Given the description of an element on the screen output the (x, y) to click on. 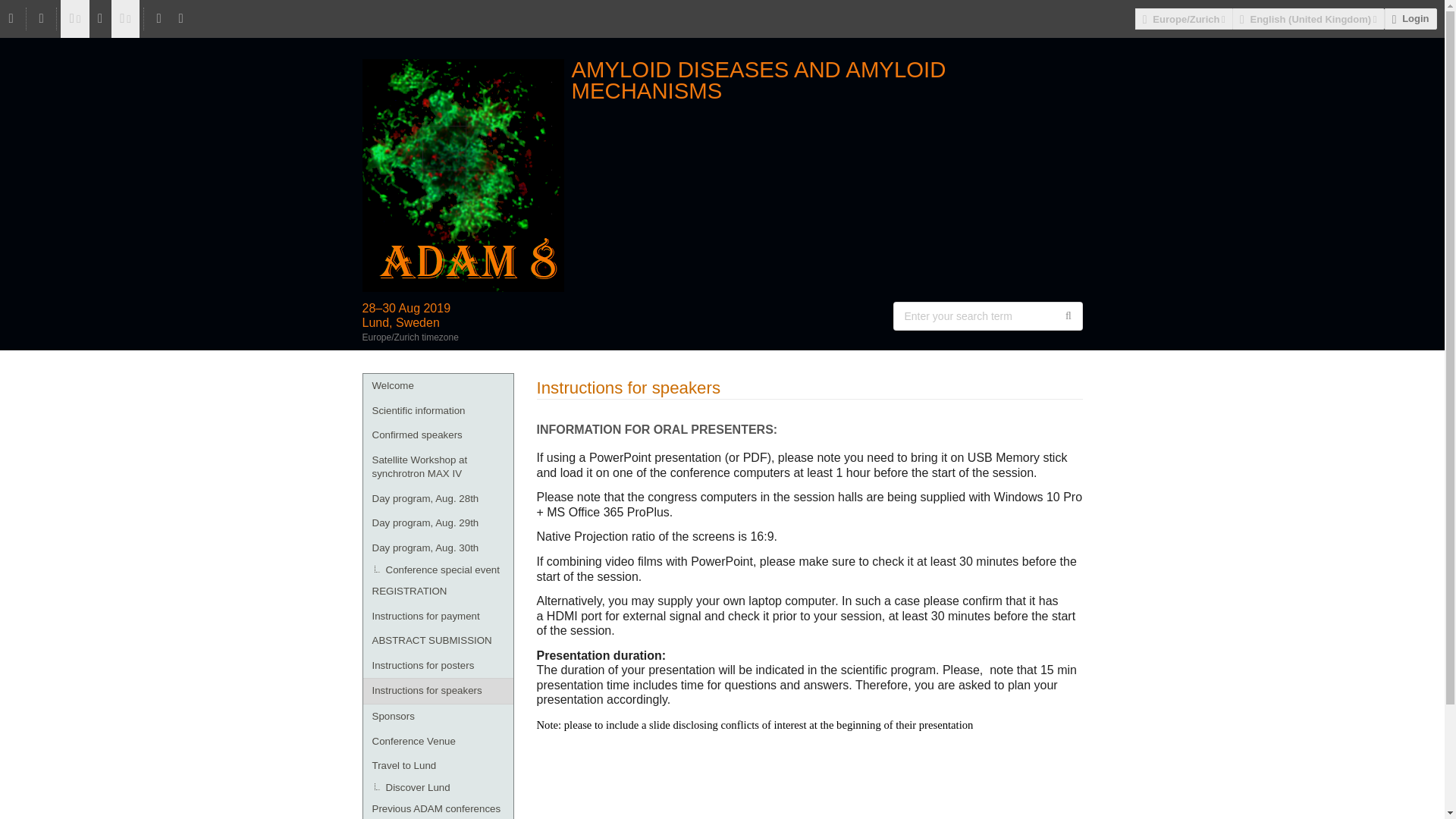
Day program, Aug. 29th (437, 523)
Login (1410, 19)
Satellite Workshop at synchrotron MAX IV (437, 466)
Confirmed speakers (437, 435)
Welcome (437, 385)
Day program, Aug. 28th (437, 498)
Day program, Aug. 30th (437, 548)
Scientific information (437, 411)
AMYLOID DISEASES AND AMYLOID MECHANISMS (722, 80)
